Given the description of an element on the screen output the (x, y) to click on. 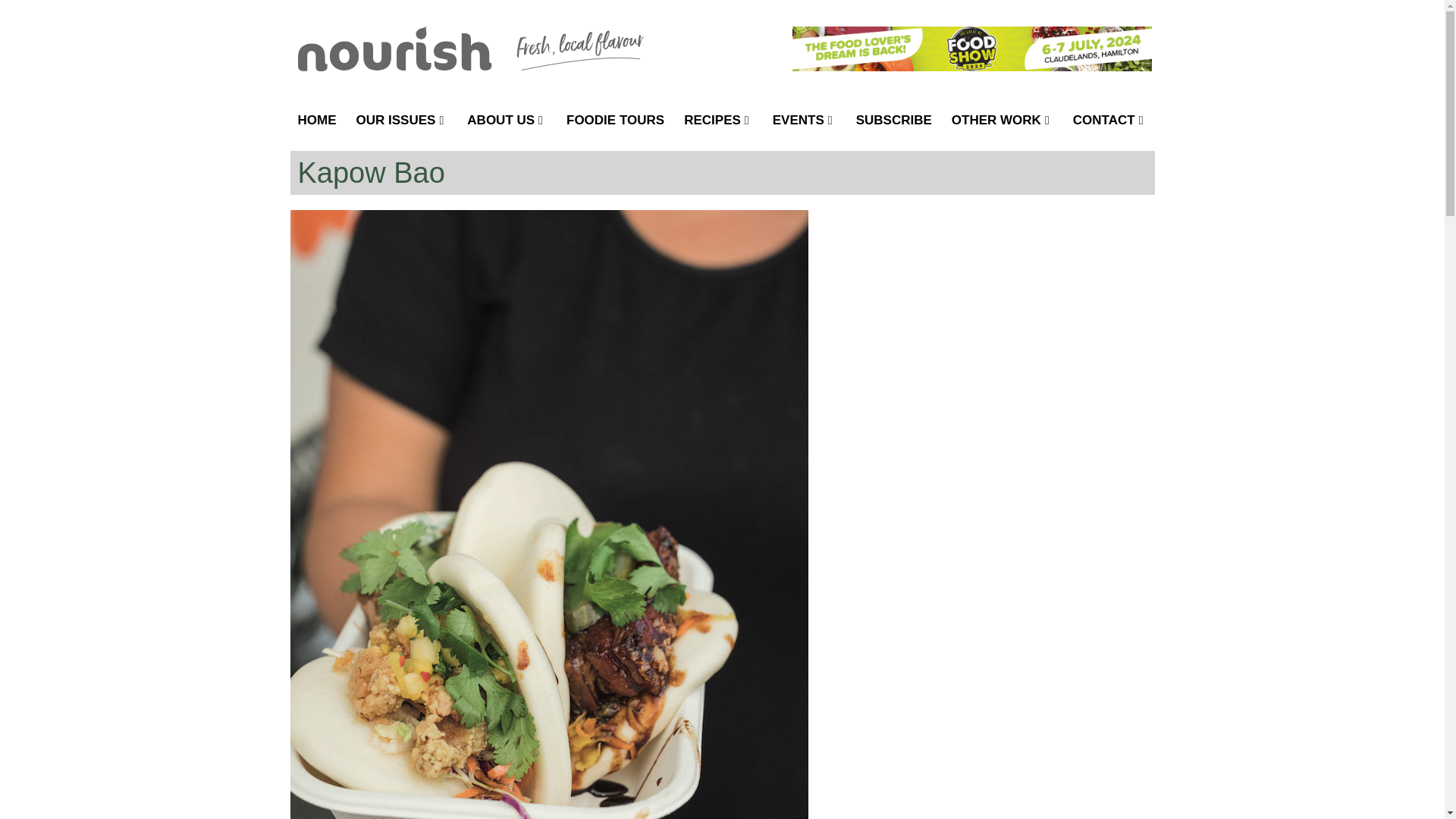
HOME (316, 120)
OUR ISSUES (402, 120)
